Given the description of an element on the screen output the (x, y) to click on. 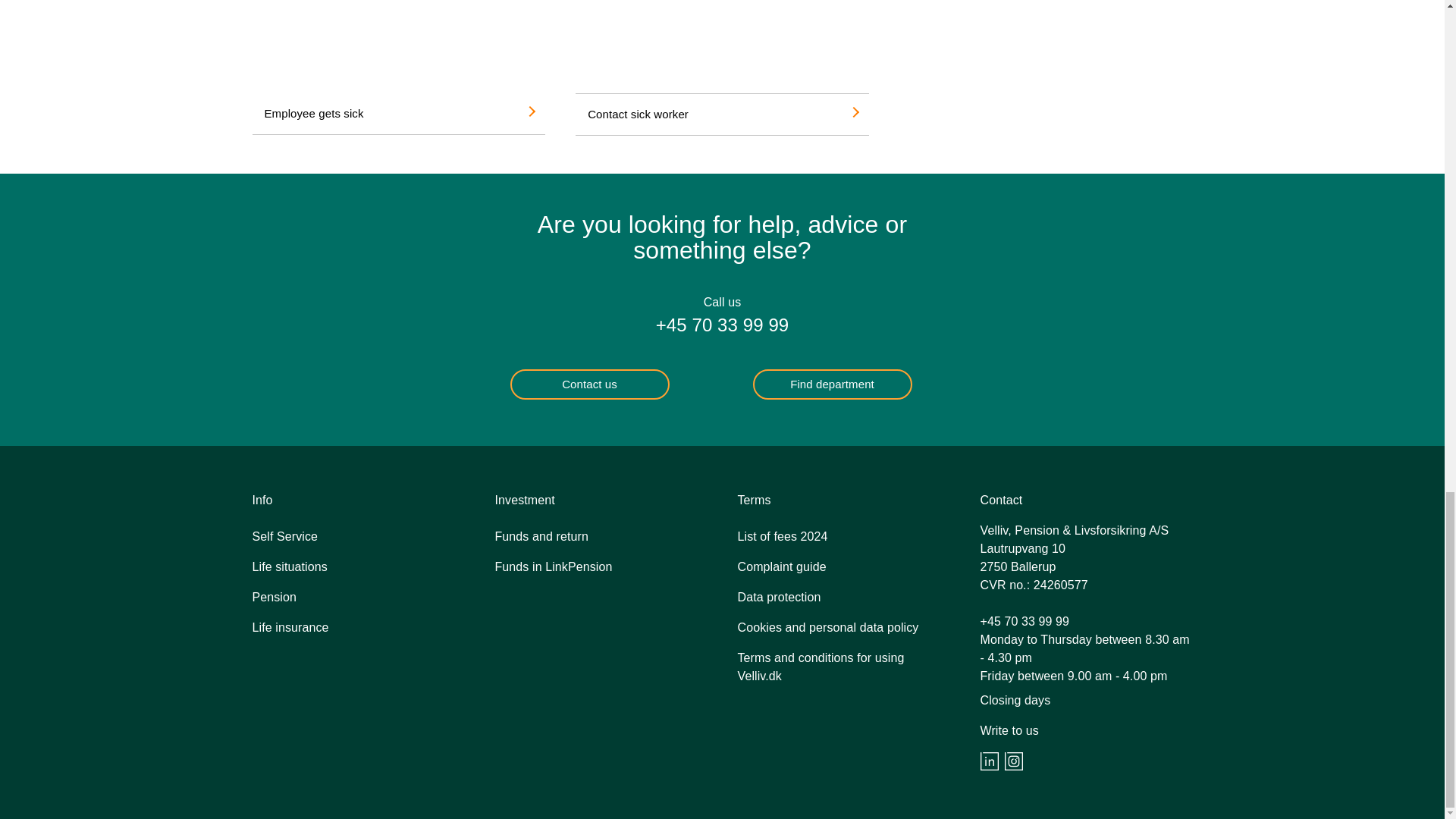
Find department (831, 384)
Pension (274, 596)
Self Service (284, 535)
Contact us (588, 384)
Funds and return (541, 535)
Employee gets sick (397, 114)
Contact sick worker (722, 114)
Life situations (288, 566)
Life insurance (290, 626)
